Given the description of an element on the screen output the (x, y) to click on. 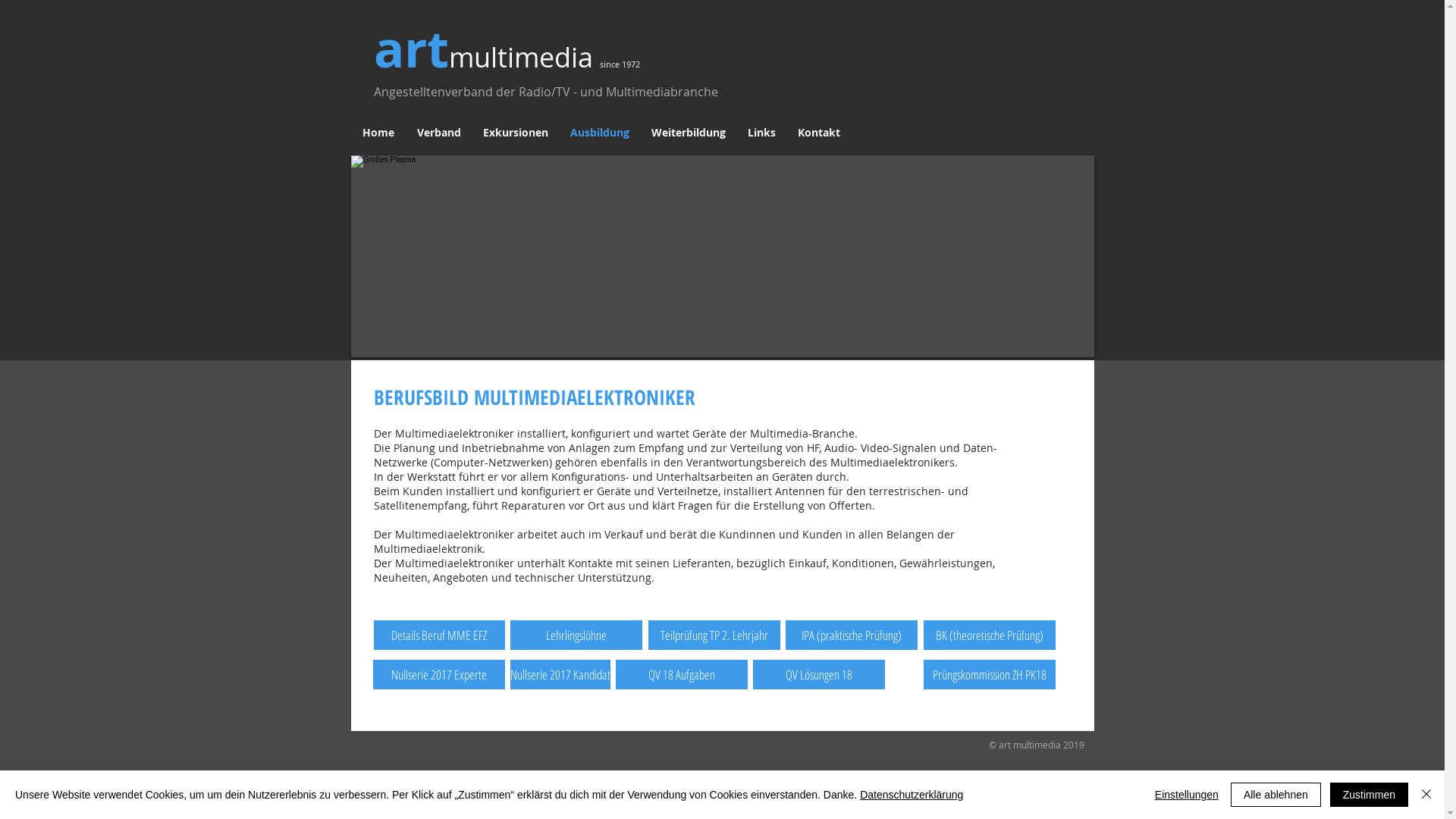
Links Element type: text (762, 131)
Nullserie 2017 Kandidat Element type: text (559, 674)
Details Beruf MME EFZ Element type: text (438, 634)
Nullserie 2017 Experte Element type: text (439, 674)
Zustimmen Element type: text (1369, 794)
Kontakt Element type: text (819, 131)
Home Element type: text (377, 131)
Exkursionen Element type: text (514, 131)
Alle ablehnen Element type: text (1275, 794)
QV 18 Aufgaben Element type: text (681, 674)
Ausbildung Element type: text (599, 131)
Weiterbildung Element type: text (688, 131)
Verband Element type: text (437, 131)
